Given the description of an element on the screen output the (x, y) to click on. 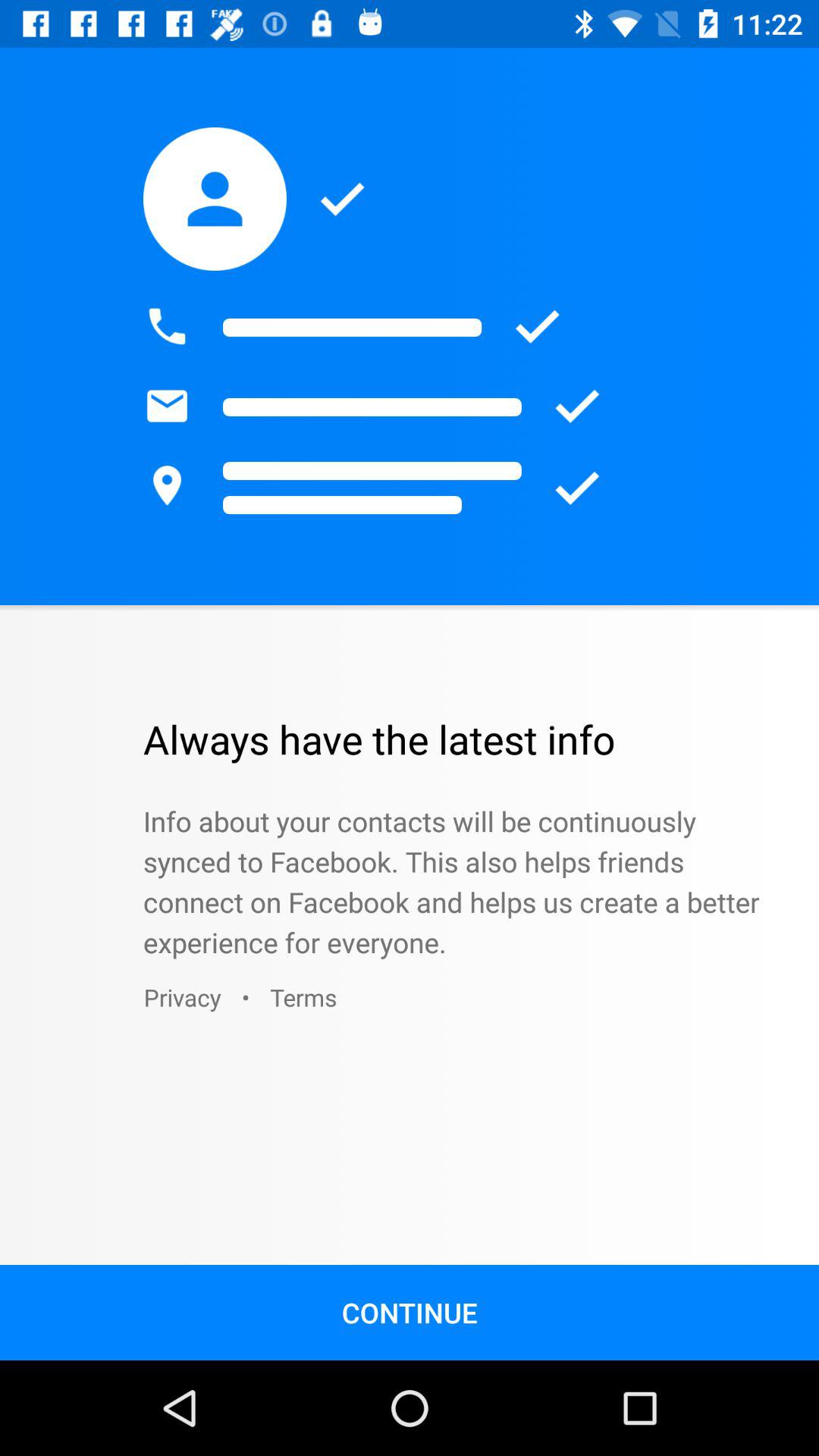
flip to terms icon (303, 997)
